Given the description of an element on the screen output the (x, y) to click on. 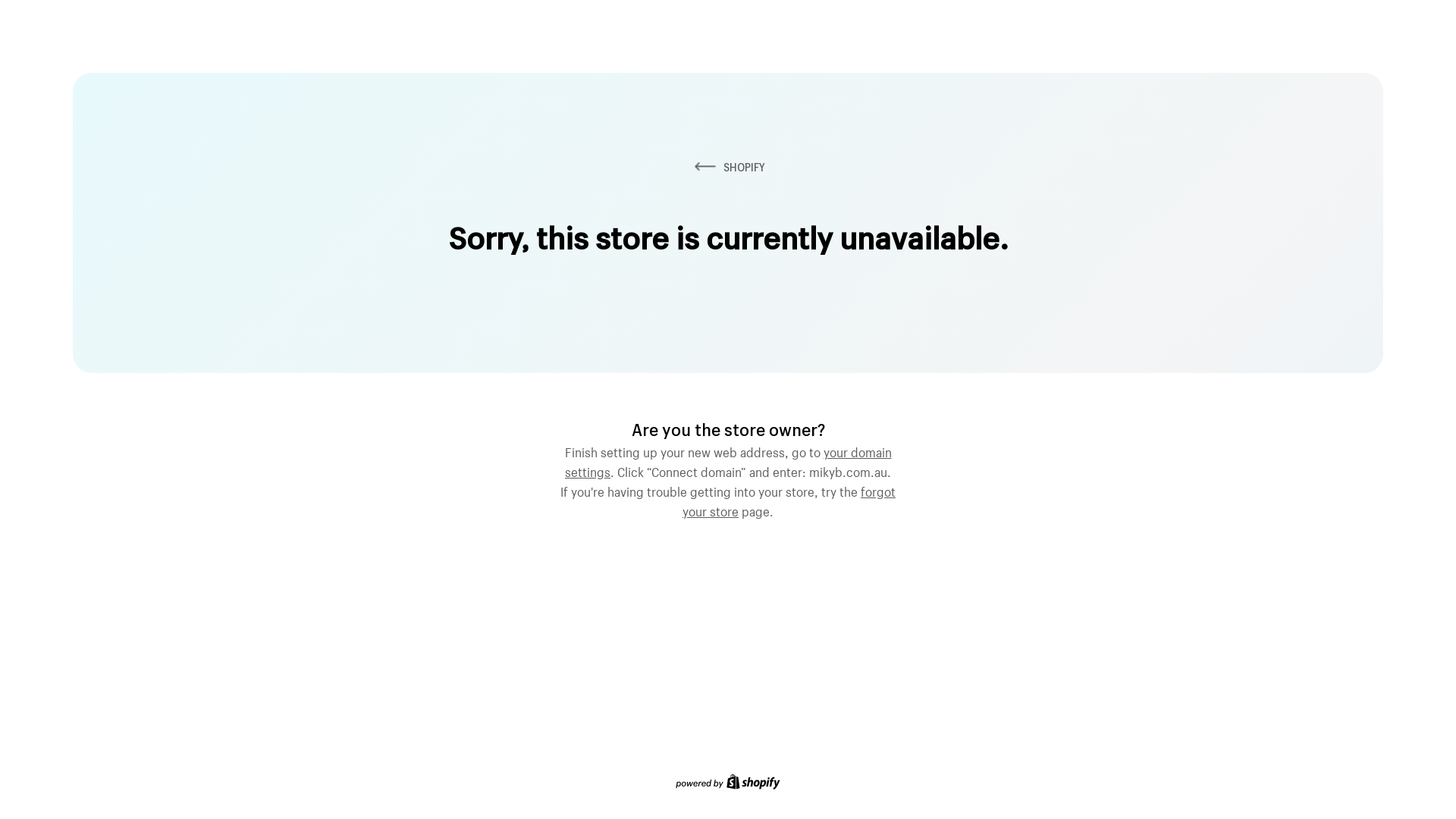
forgot your store Element type: text (788, 499)
SHOPIFY Element type: text (727, 167)
your domain settings Element type: text (727, 460)
